Given the description of an element on the screen output the (x, y) to click on. 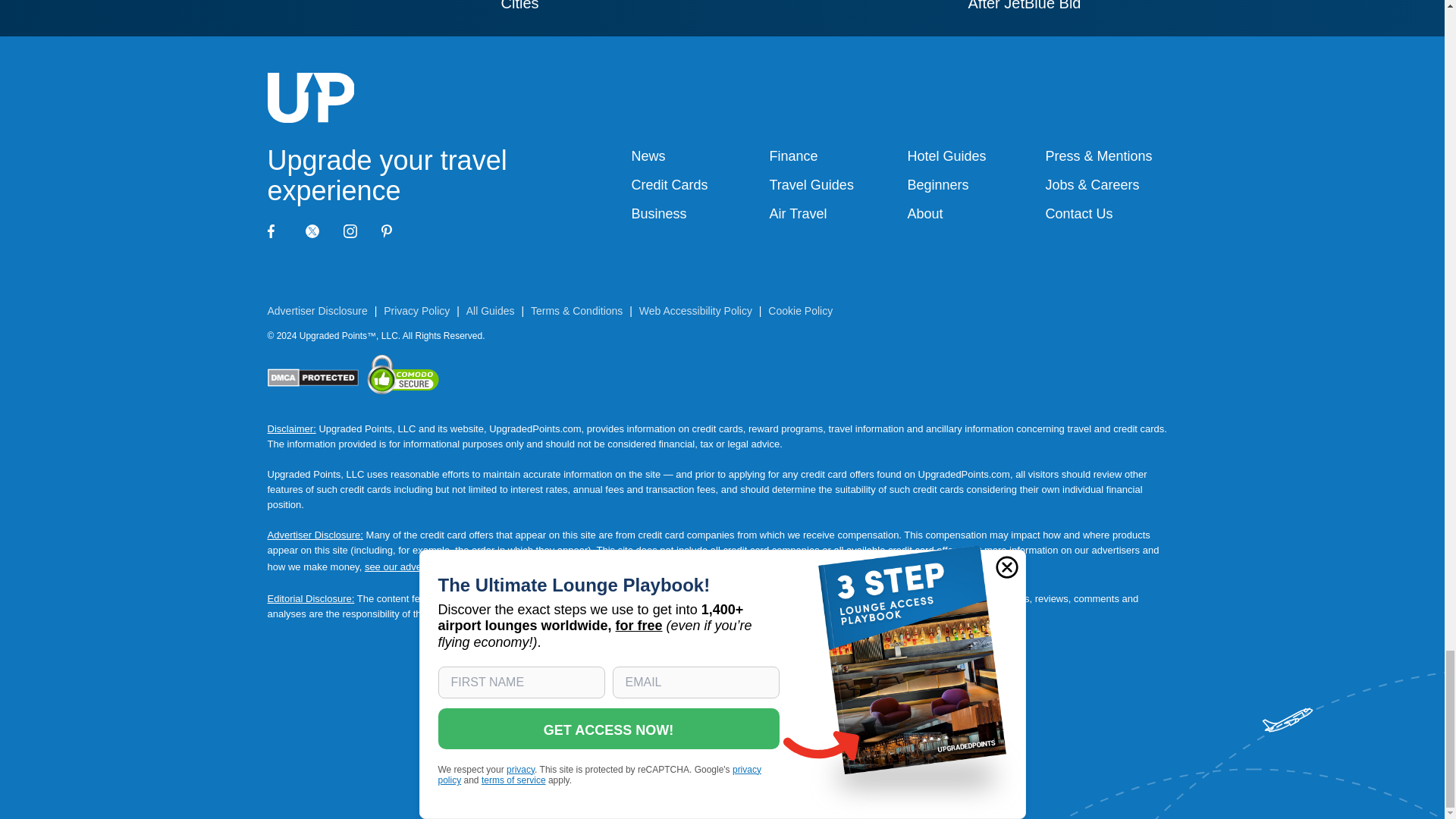
DMCA.com Protection Status (312, 377)
